Given the description of an element on the screen output the (x, y) to click on. 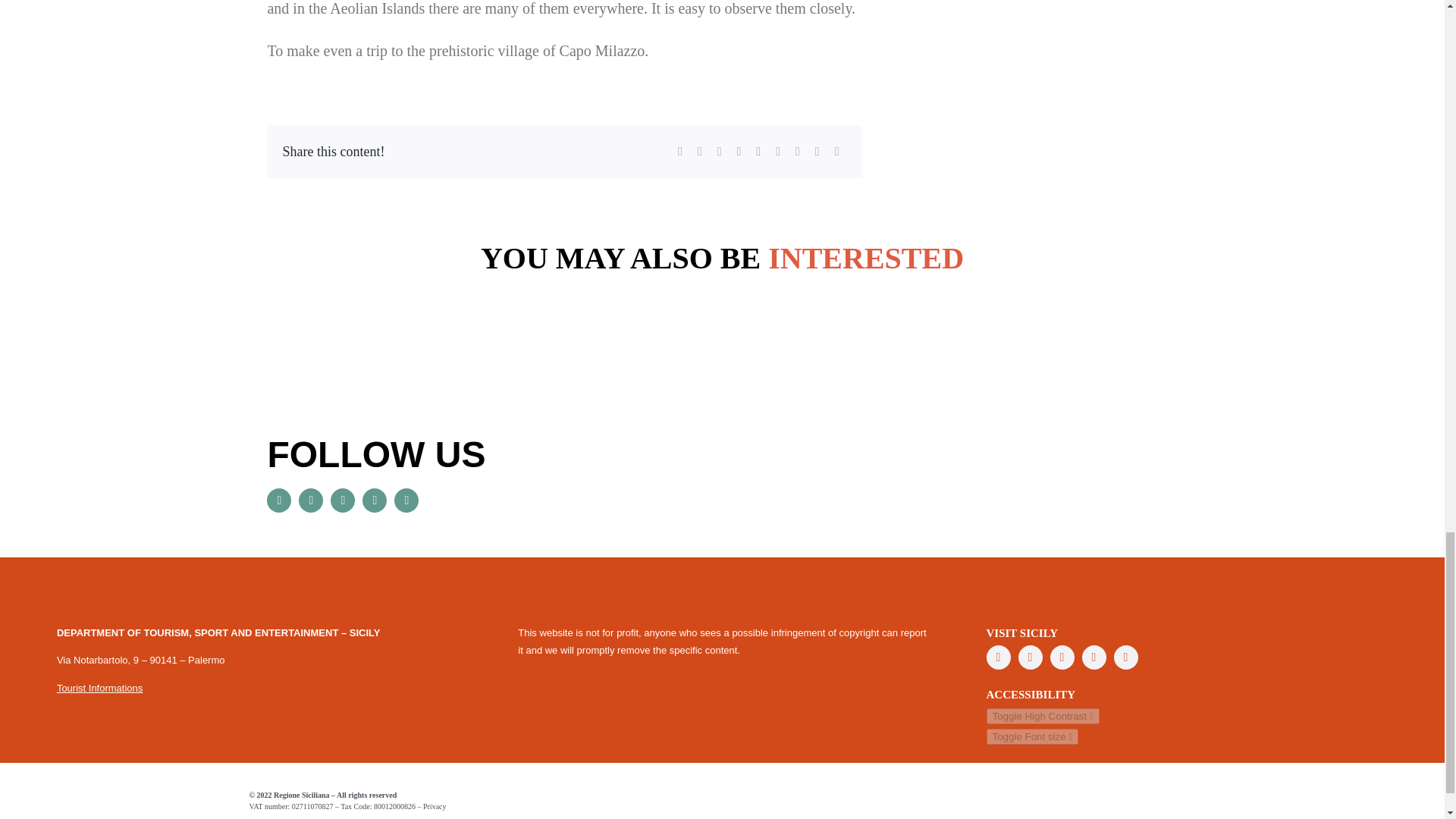
YouTube (1061, 657)
X (1029, 657)
Facebook (998, 657)
YouTube (342, 500)
YOU MAY ALSO BE INTERESTED (721, 280)
Instagram (1093, 657)
Pinterest (406, 500)
Instagram (374, 500)
Pinterest (1125, 657)
X (310, 500)
